Given the description of an element on the screen output the (x, y) to click on. 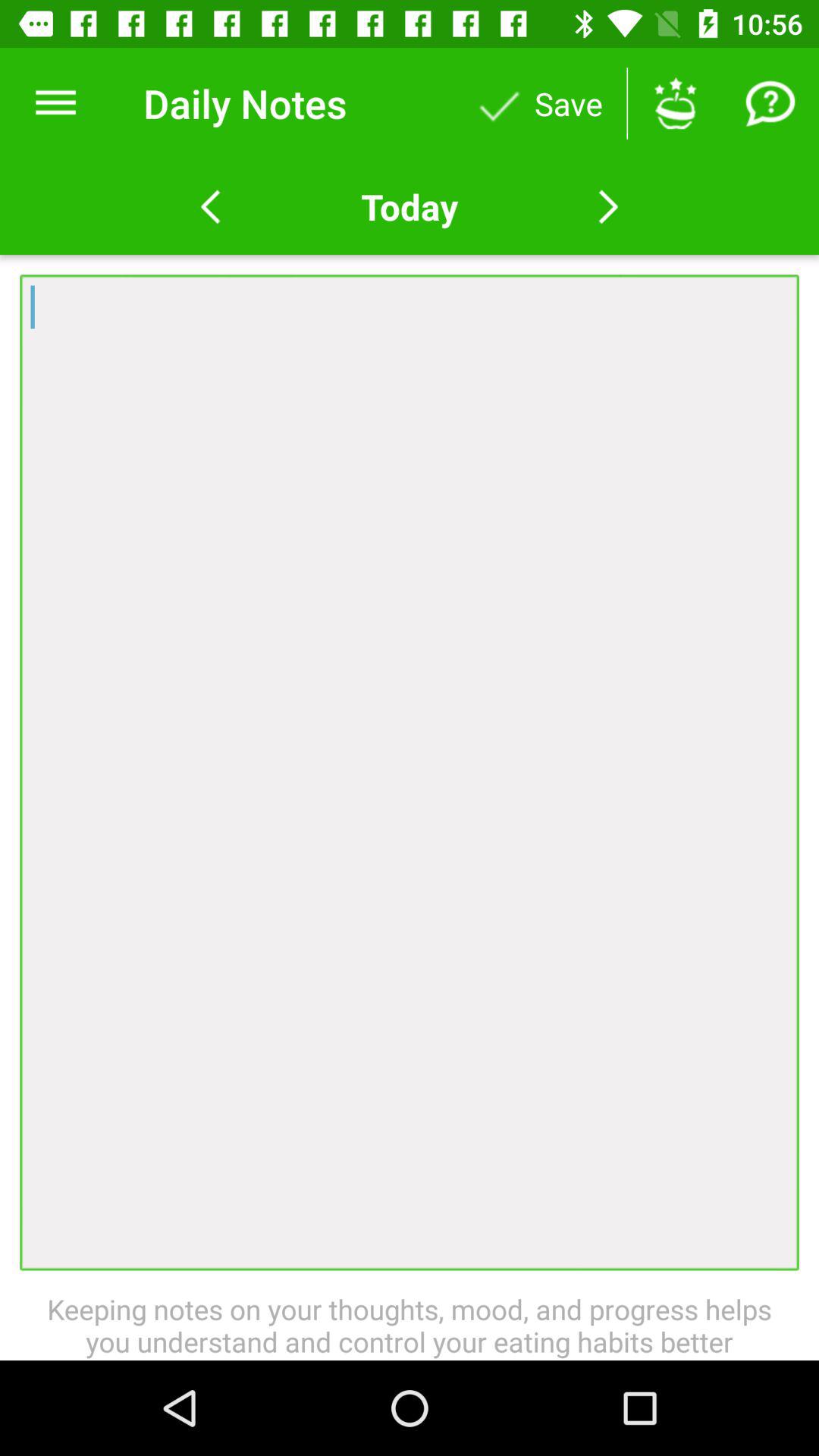
turn on icon to the left of the daily notes item (55, 103)
